Given the description of an element on the screen output the (x, y) to click on. 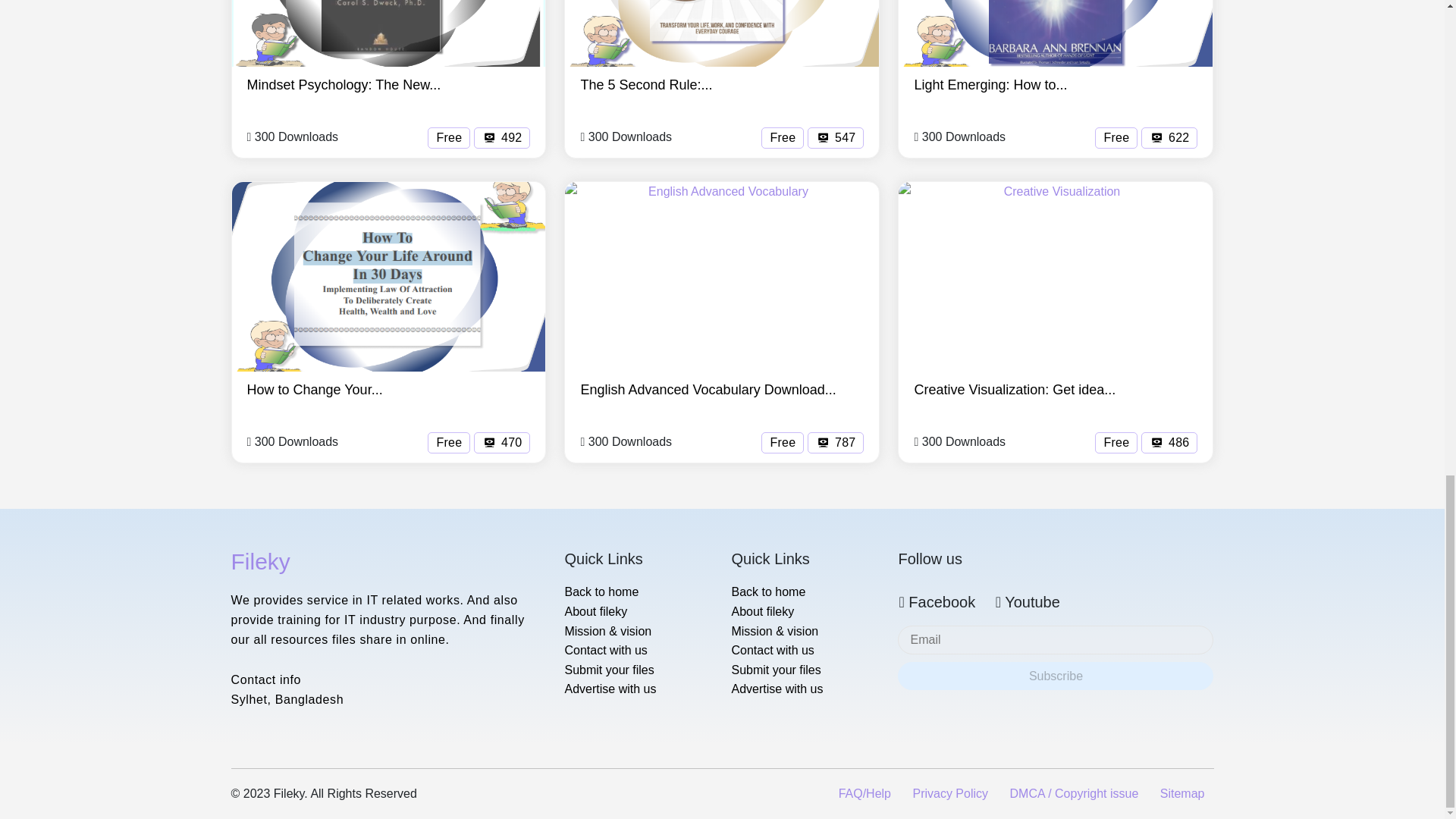
Mindset Psychology: The New... (344, 84)
Feature image (721, 276)
Feature image (721, 33)
Light Emerging: How to... (990, 84)
Feature image (1055, 33)
Feature image (388, 33)
The 5 Second Rule:... (645, 84)
Feature image (1055, 276)
Feature image (388, 276)
Subscribe (1055, 676)
